Given the description of an element on the screen output the (x, y) to click on. 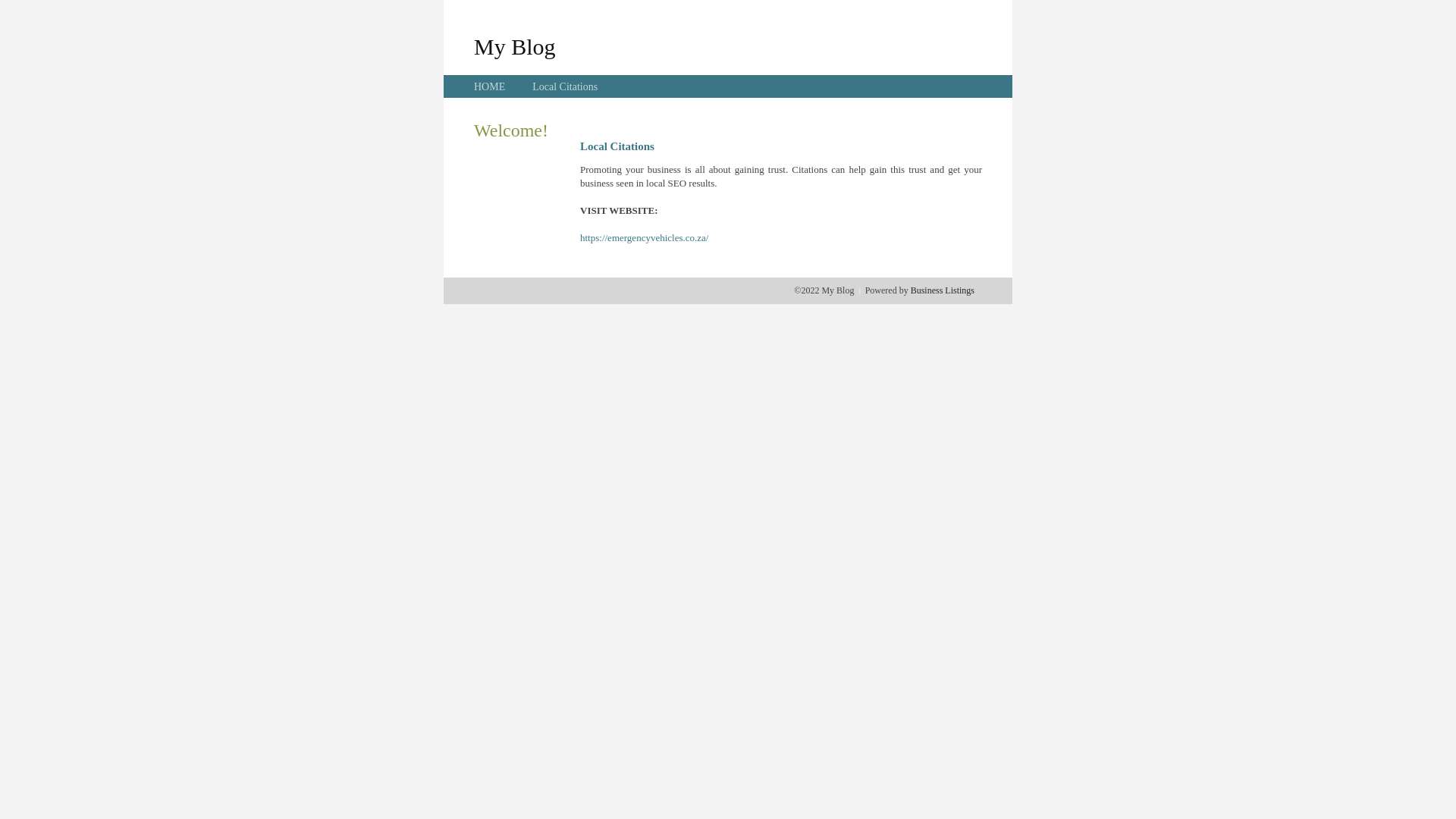
https://emergencyvehicles.co.za/ Element type: text (644, 237)
My Blog Element type: text (514, 46)
Business Listings Element type: text (942, 290)
HOME Element type: text (489, 86)
Local Citations Element type: text (564, 86)
